Given the description of an element on the screen output the (x, y) to click on. 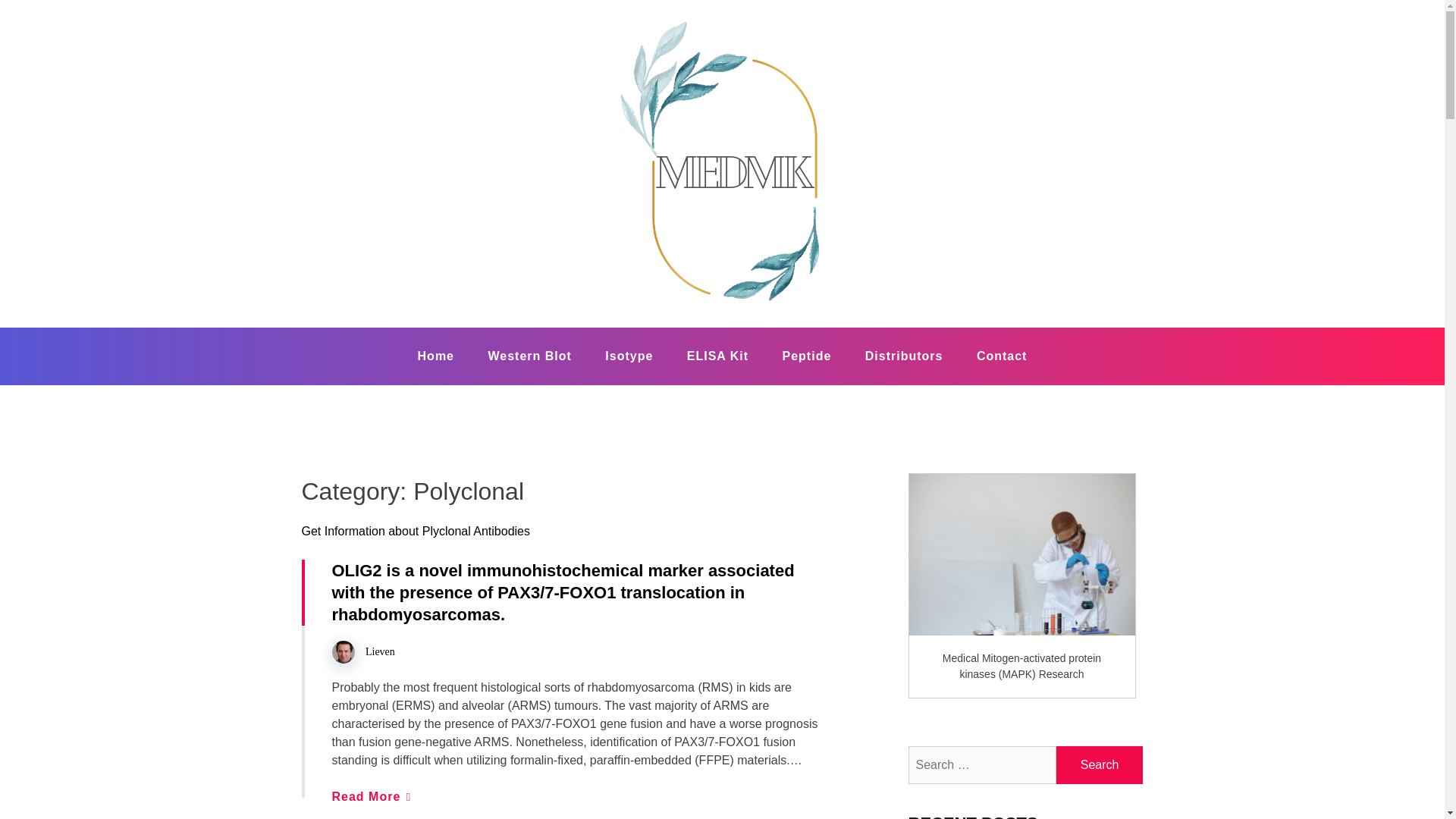
Isotype (628, 355)
Distributors (904, 355)
Western Blot (528, 355)
Peptide (807, 355)
Search (1099, 764)
Contact (1001, 355)
Home (435, 355)
ELISA Kit (716, 355)
Lieven (379, 651)
Search (1099, 764)
Read More (370, 796)
Get Information about Plyclonal Antibodies (416, 530)
